Given the description of an element on the screen output the (x, y) to click on. 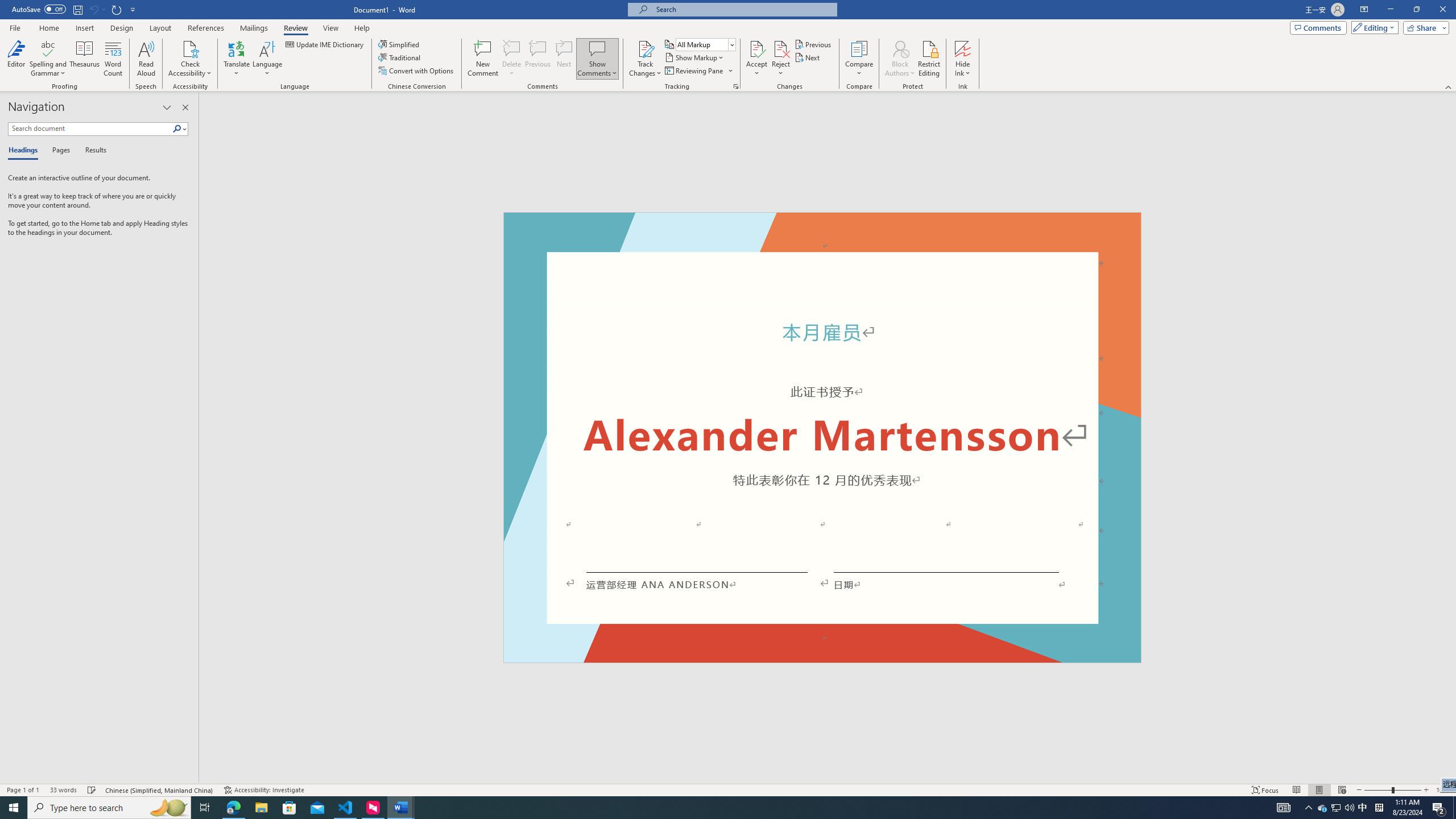
Reject and Move to Next (780, 48)
Check Accessibility (189, 58)
Help (361, 28)
Footer -Section 1- (822, 657)
Track Changes (644, 58)
Language Chinese (Simplified, Mainland China) (159, 790)
View (330, 28)
